Given the description of an element on the screen output the (x, y) to click on. 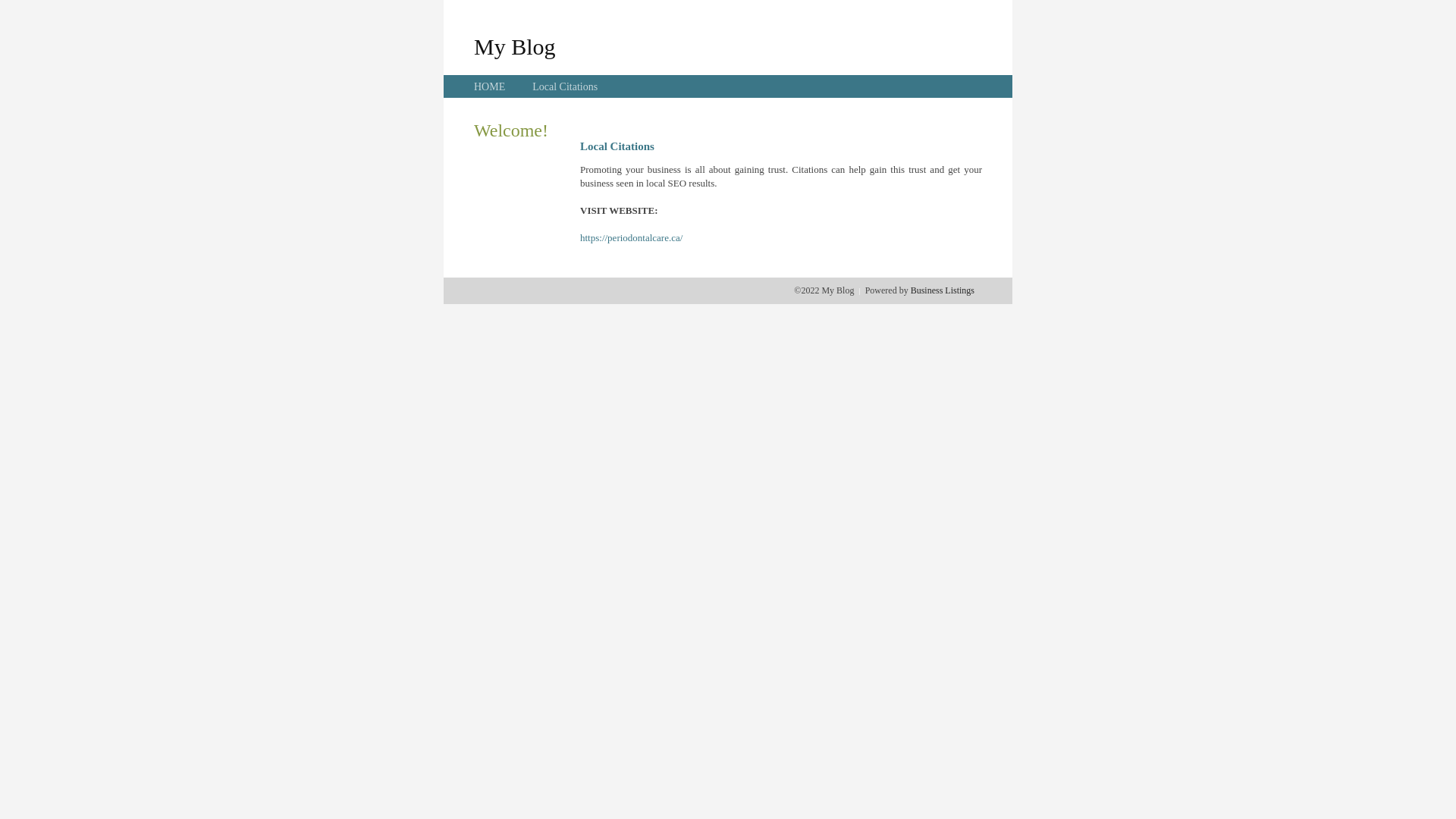
HOME Element type: text (489, 86)
My Blog Element type: text (514, 46)
Local Citations Element type: text (564, 86)
Business Listings Element type: text (942, 290)
https://periodontalcare.ca/ Element type: text (631, 237)
